Given the description of an element on the screen output the (x, y) to click on. 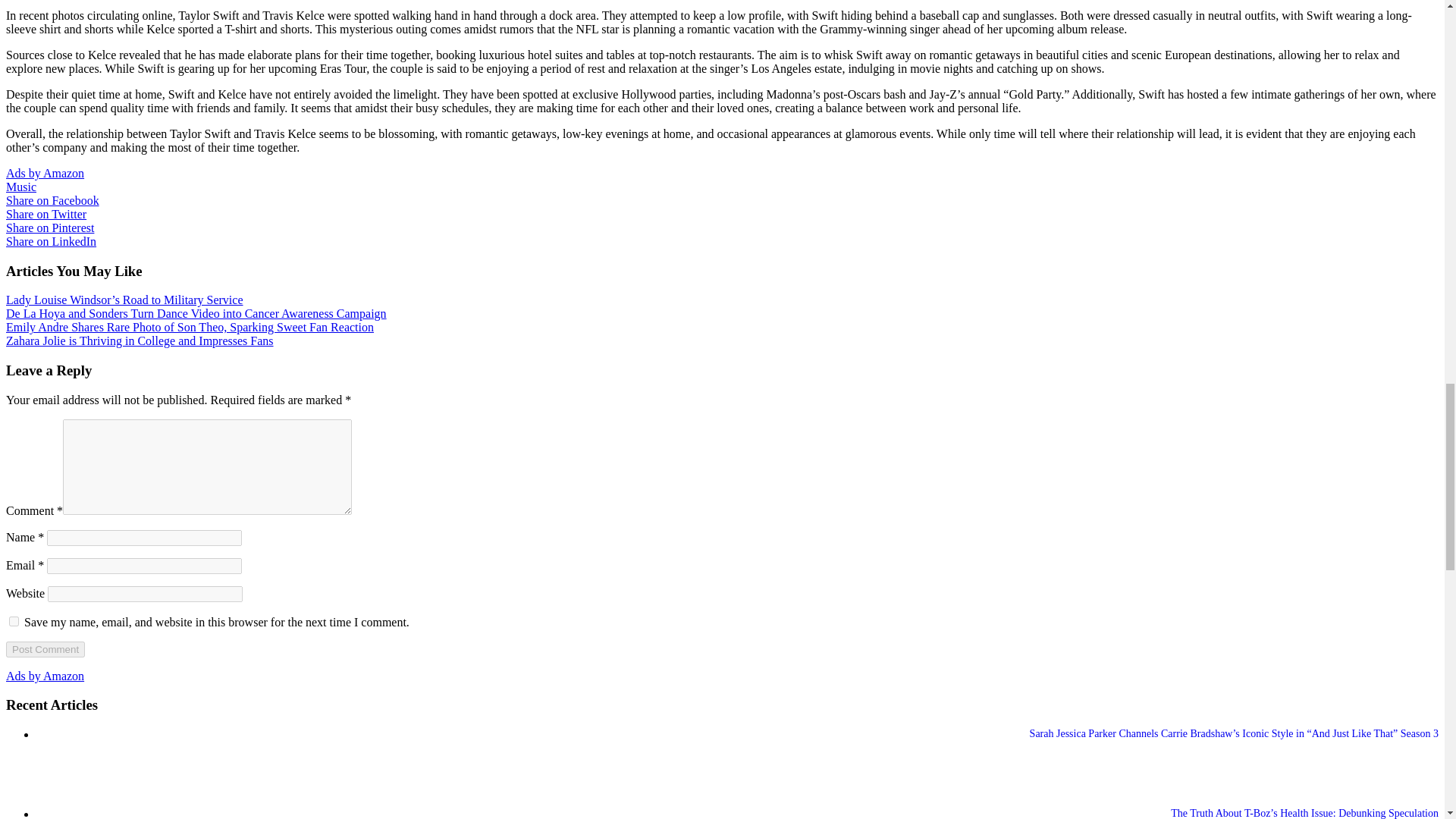
yes (13, 621)
Music (20, 186)
Post Comment (44, 649)
